Given the description of an element on the screen output the (x, y) to click on. 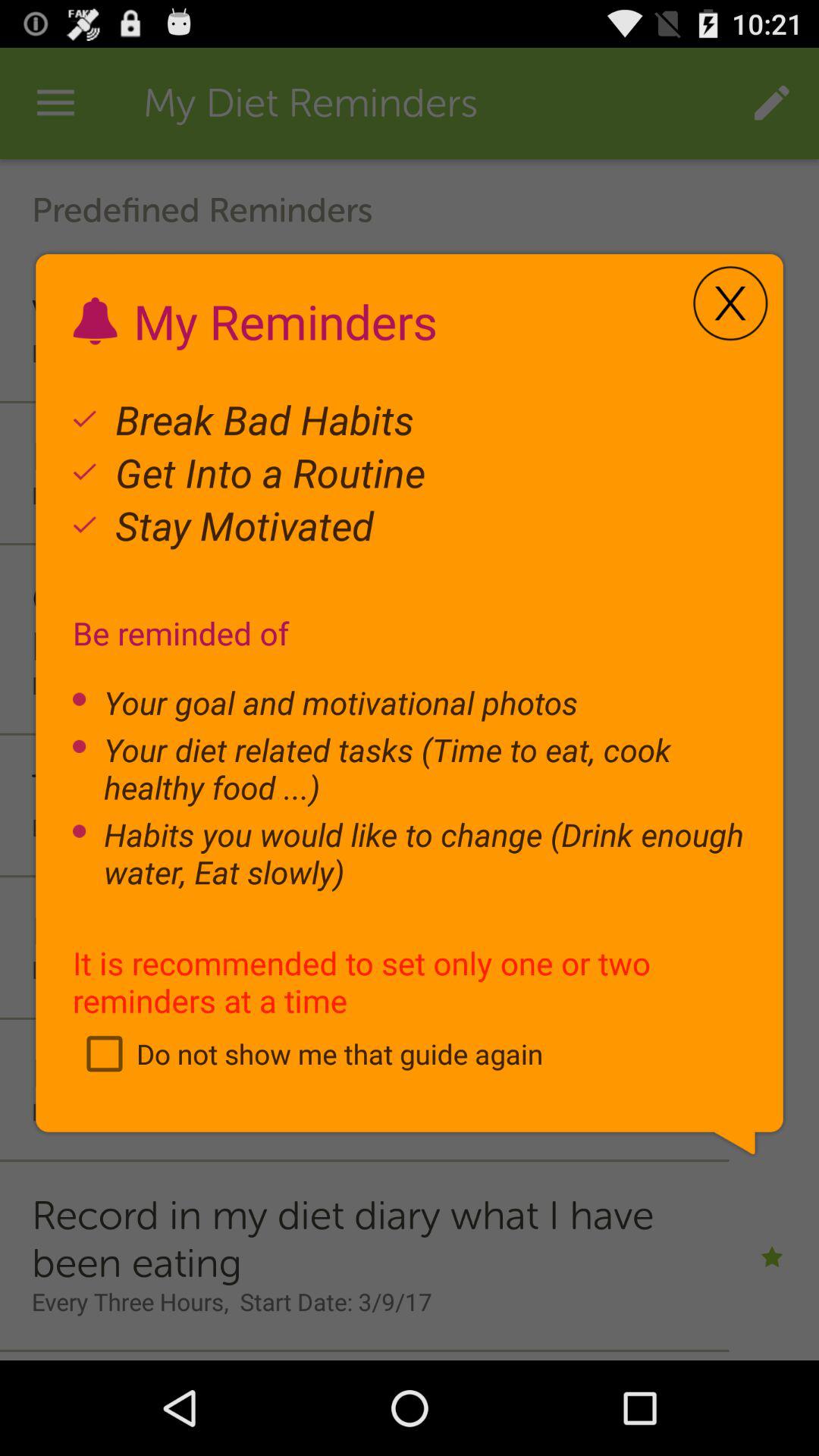
tap the icon to the right of my reminders item (730, 303)
